Given the description of an element on the screen output the (x, y) to click on. 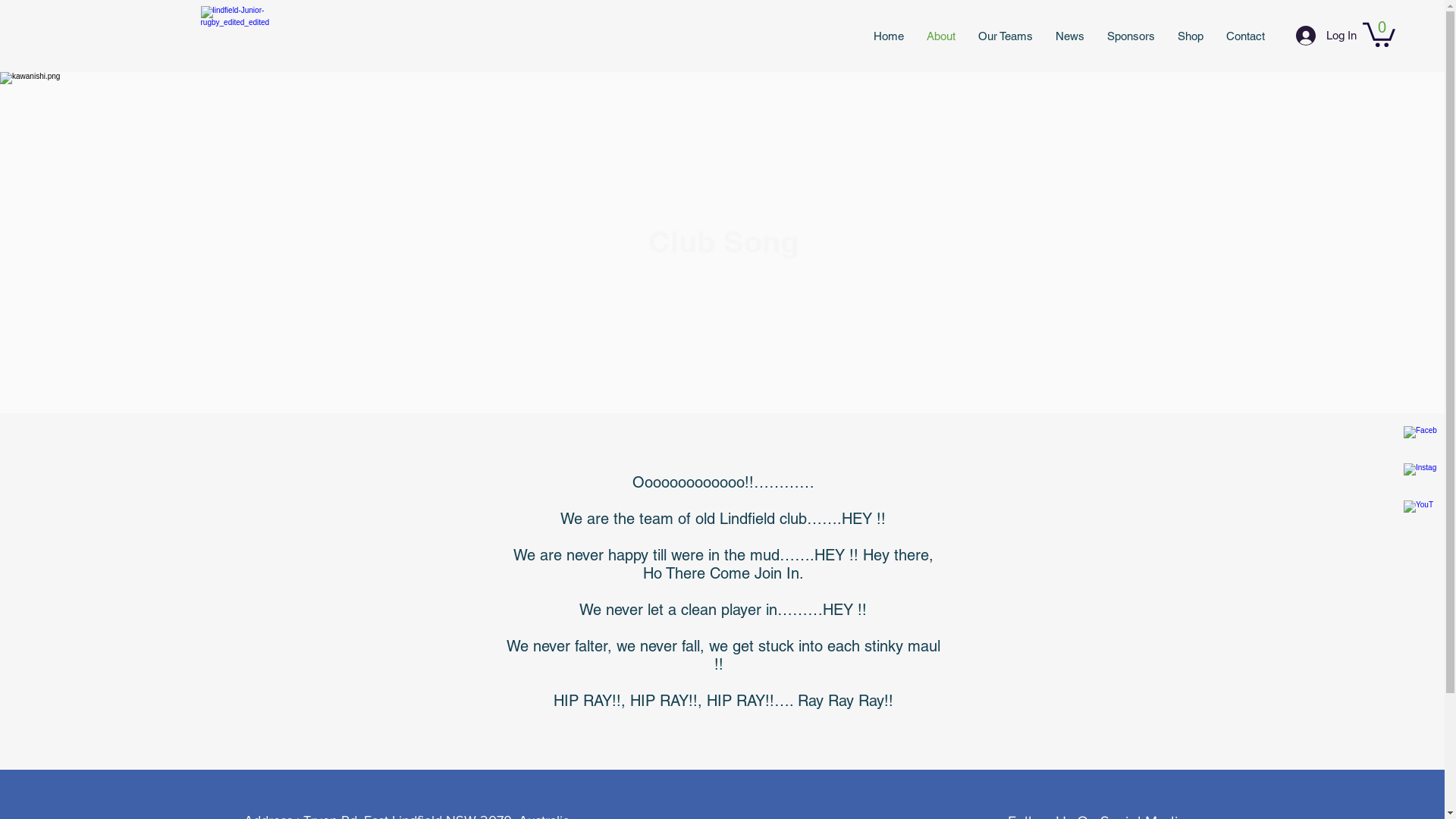
Log In Element type: text (1319, 35)
Shop Element type: text (1190, 35)
0 Element type: text (1378, 33)
Contact Element type: text (1245, 35)
News Element type: text (1069, 35)
Our Teams Element type: text (1005, 35)
Sponsors Element type: text (1130, 35)
Home Element type: text (888, 35)
About Element type: text (940, 35)
lindfield-Junior-rugby.png Element type: hover (234, 35)
